Given the description of an element on the screen output the (x, y) to click on. 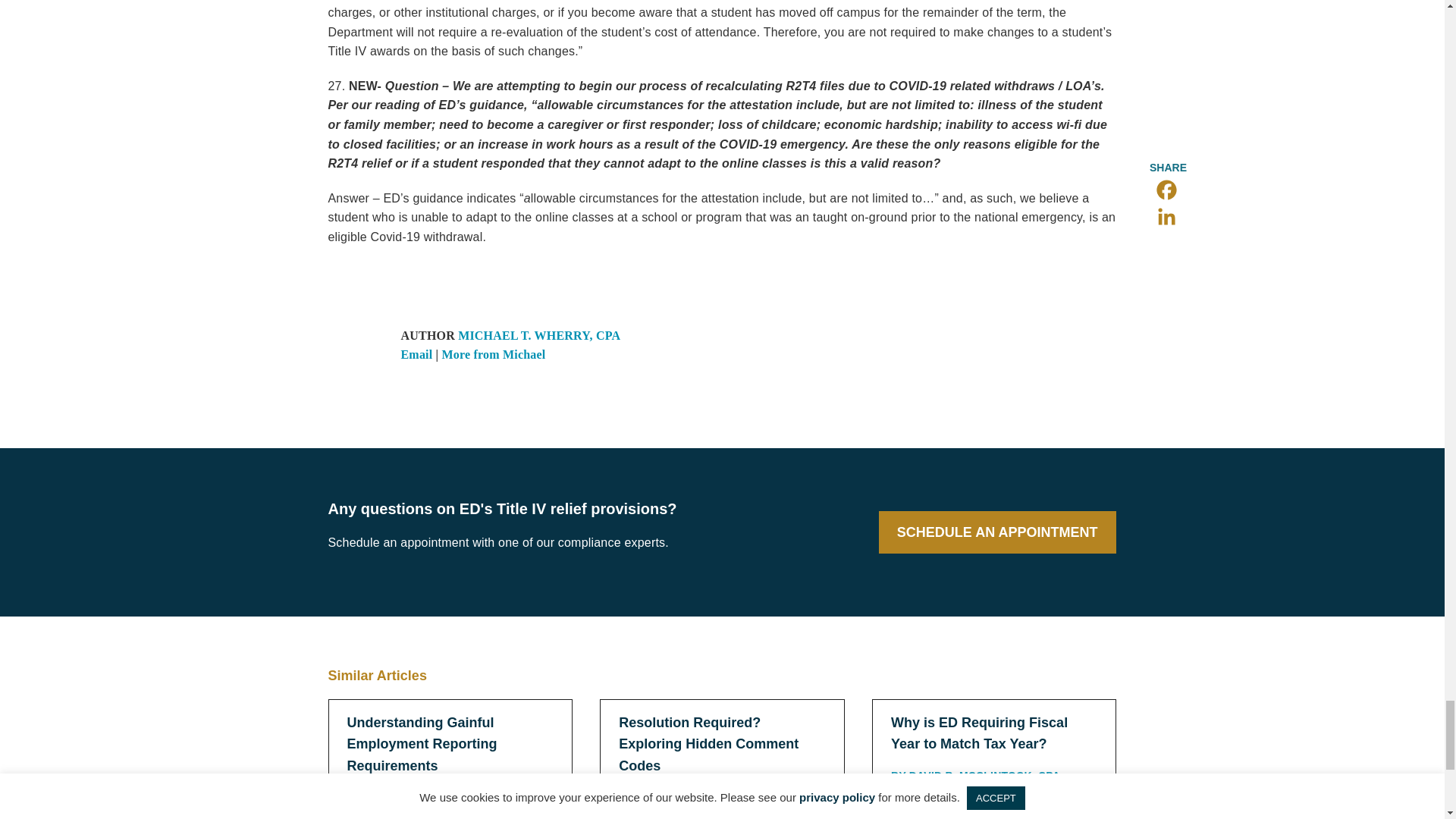
Why is ED Requiring Fiscal Year to Match Tax Year? (979, 733)
MICHAEL T. WHERRY, CPA (539, 335)
More from Michael (494, 354)
Resolution Required? Exploring Hidden Comment Codes (707, 743)
Understanding Gainful Employment Reporting Requirements (422, 743)
SCHEDULE AN APPOINTMENT (996, 532)
Email (416, 354)
